Given the description of an element on the screen output the (x, y) to click on. 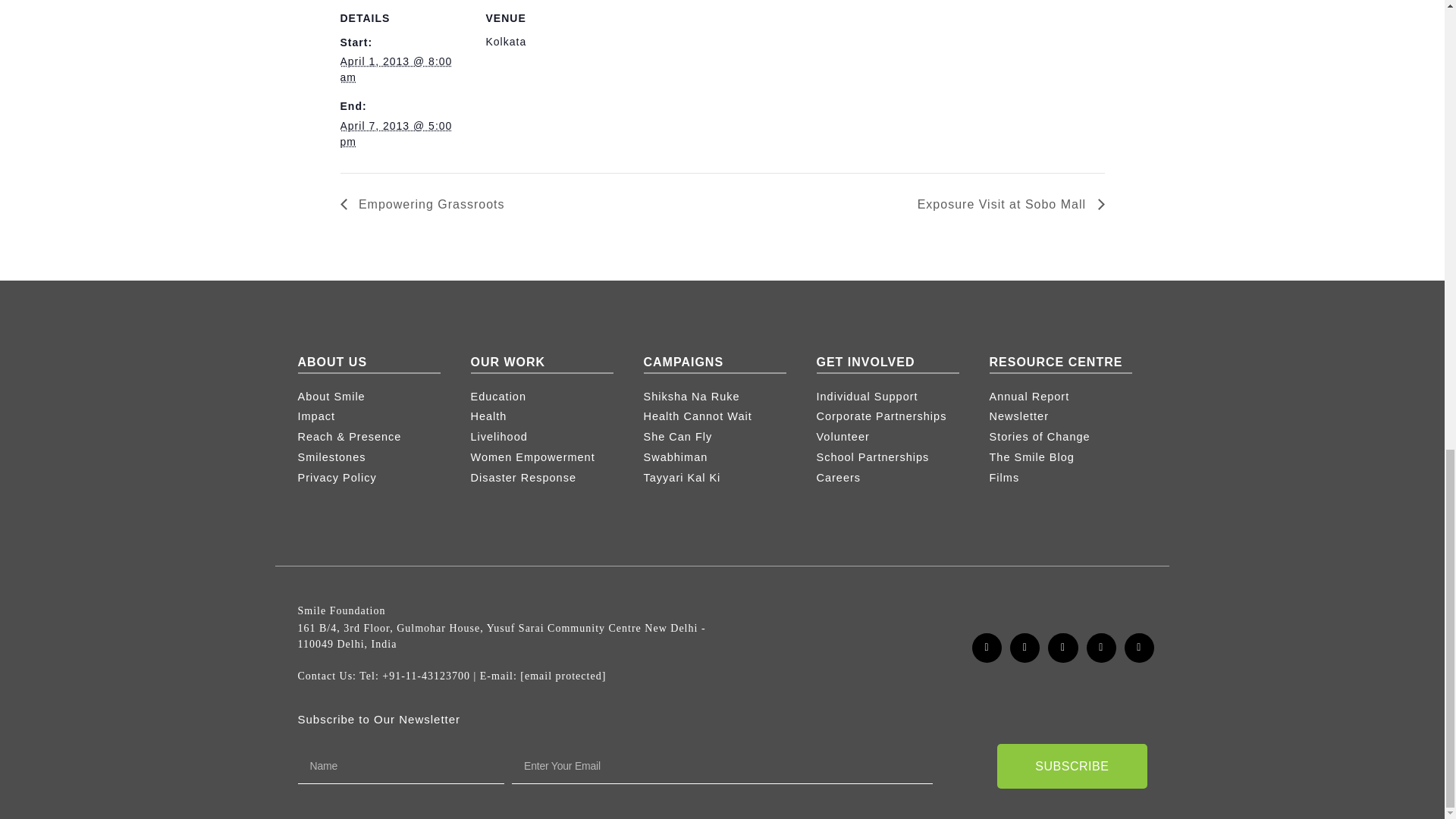
2013-04-01 (395, 69)
Click to Call (425, 675)
2013-04-07 (395, 133)
